Given the description of an element on the screen output the (x, y) to click on. 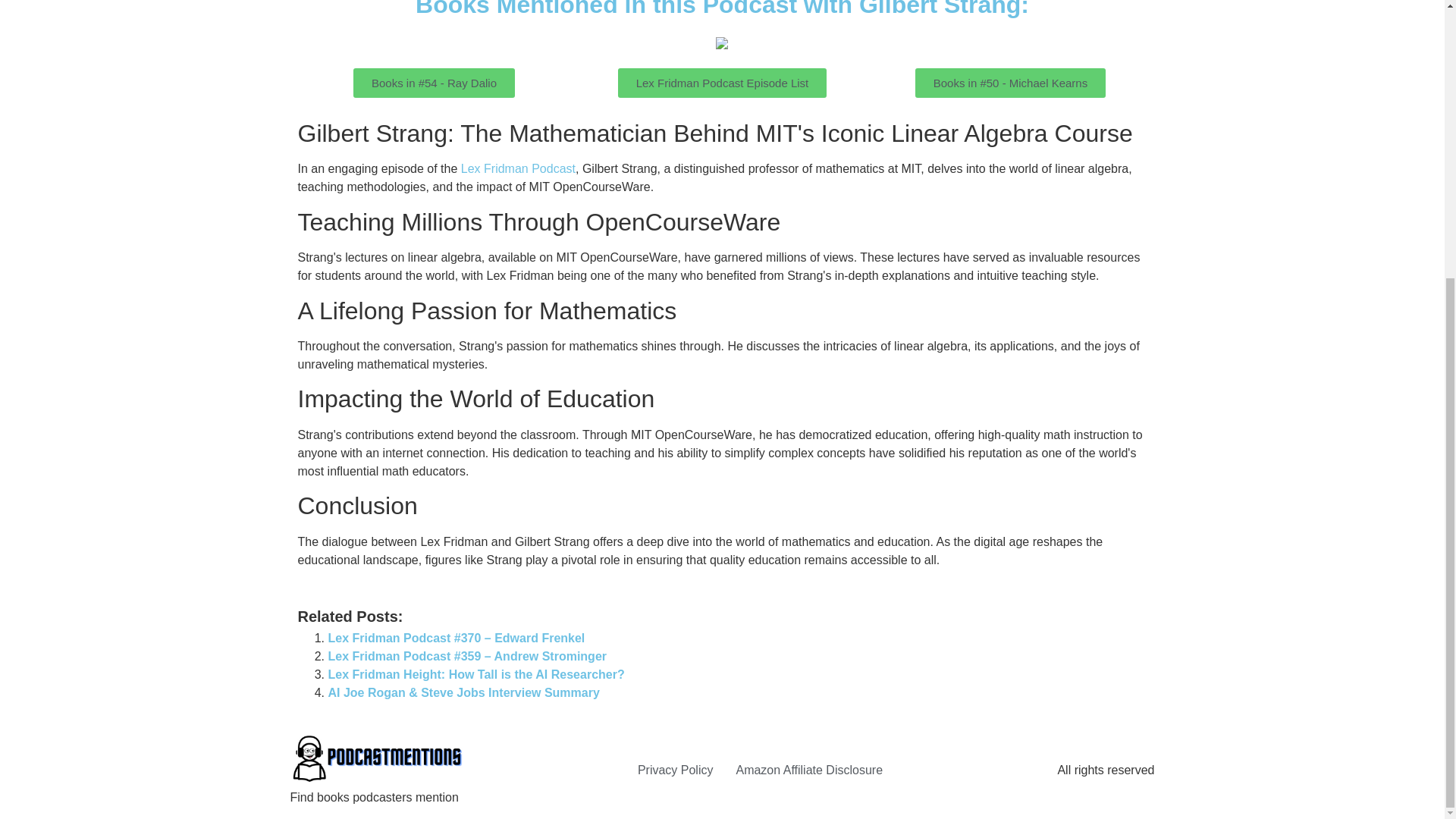
Lex Fridman Height: How Tall is the AI Researcher? (475, 674)
Lex Fridman Podcast Episode List (722, 82)
Amazon Affiliate Disclosure (808, 769)
Lex Fridman Height: How Tall is the AI Researcher? (475, 674)
Privacy Policy (675, 769)
Lex Fridman Podcast (518, 168)
